Given the description of an element on the screen output the (x, y) to click on. 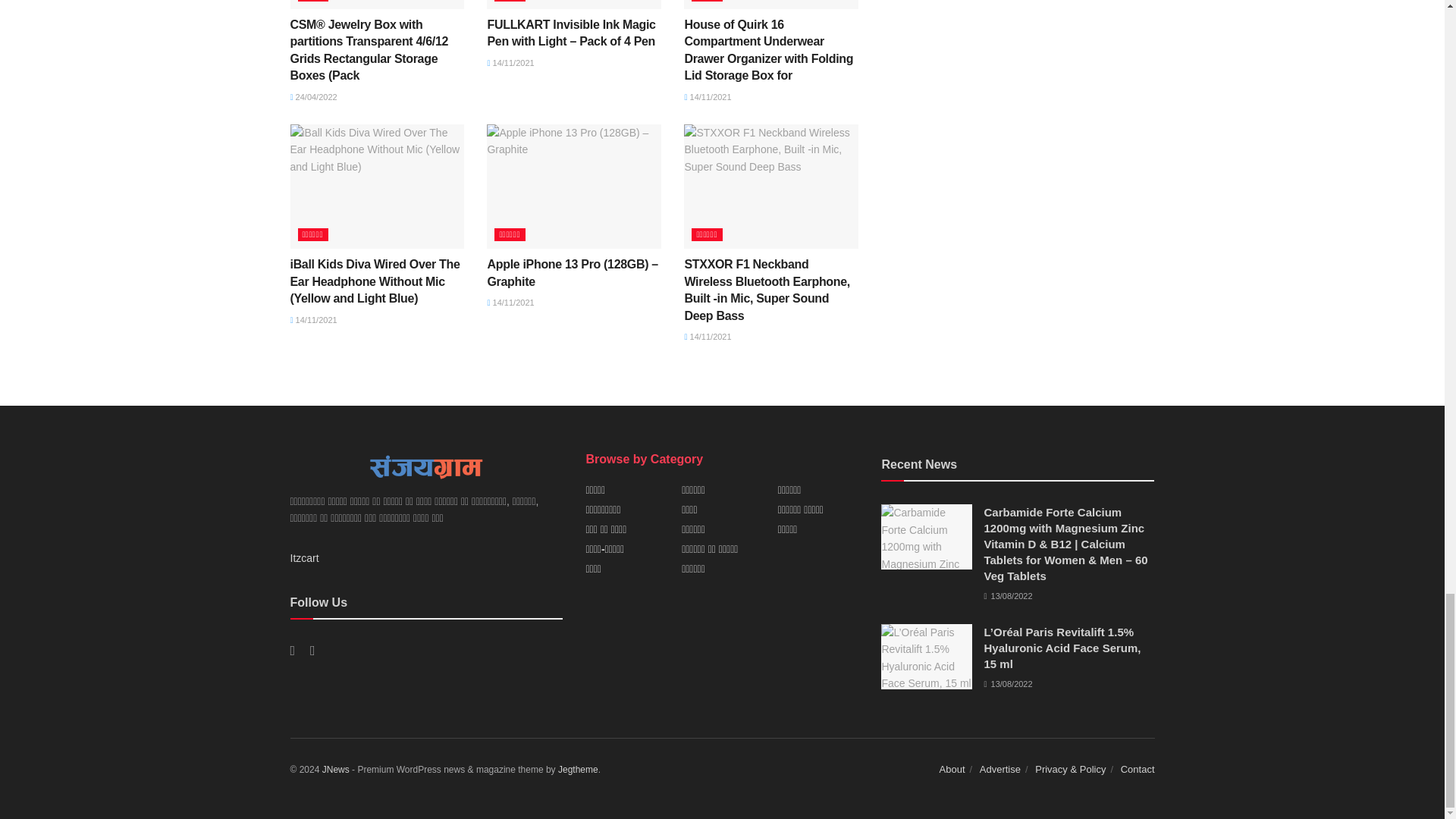
Jegtheme (577, 769)
